Given the description of an element on the screen output the (x, y) to click on. 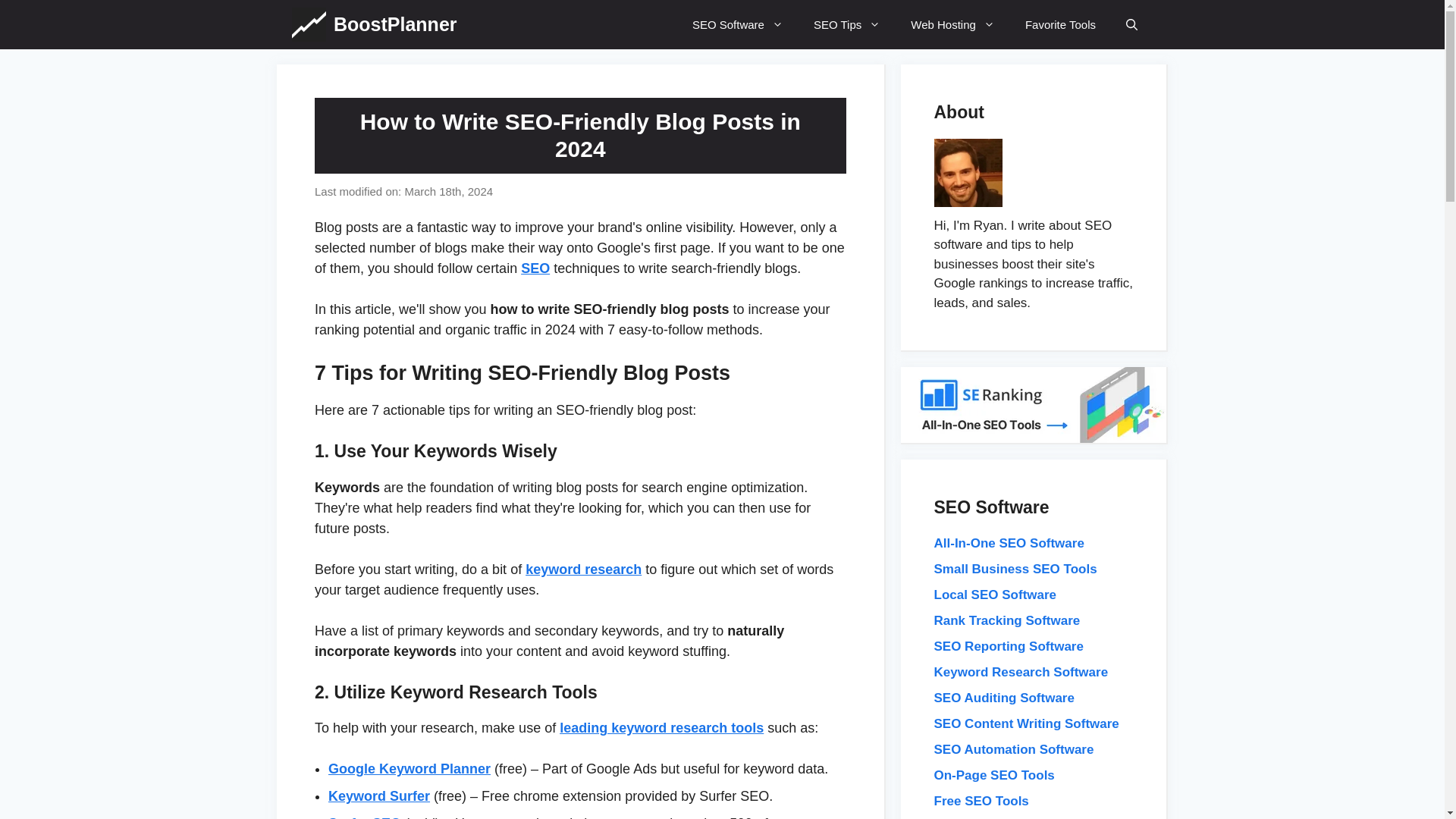
SEO Software (737, 24)
BoostPlanner (395, 24)
keyword research (583, 569)
Web Hosting (952, 24)
SEO Tips (846, 24)
Favorite Tools (1060, 24)
SEO Tips (846, 24)
SEO (535, 268)
SEO Software (737, 24)
